Given the description of an element on the screen output the (x, y) to click on. 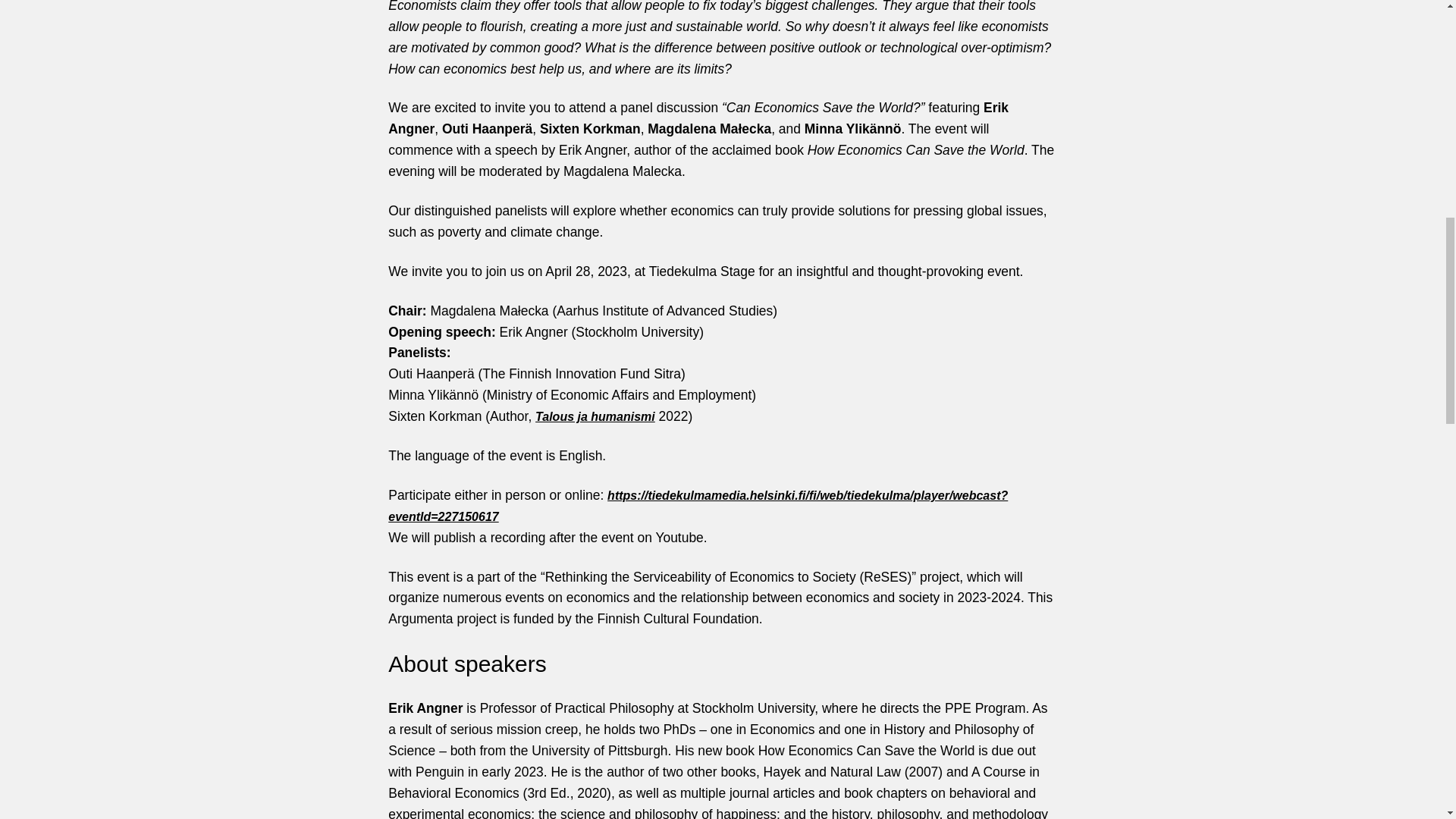
Talous ja humanismi (595, 416)
